Given the description of an element on the screen output the (x, y) to click on. 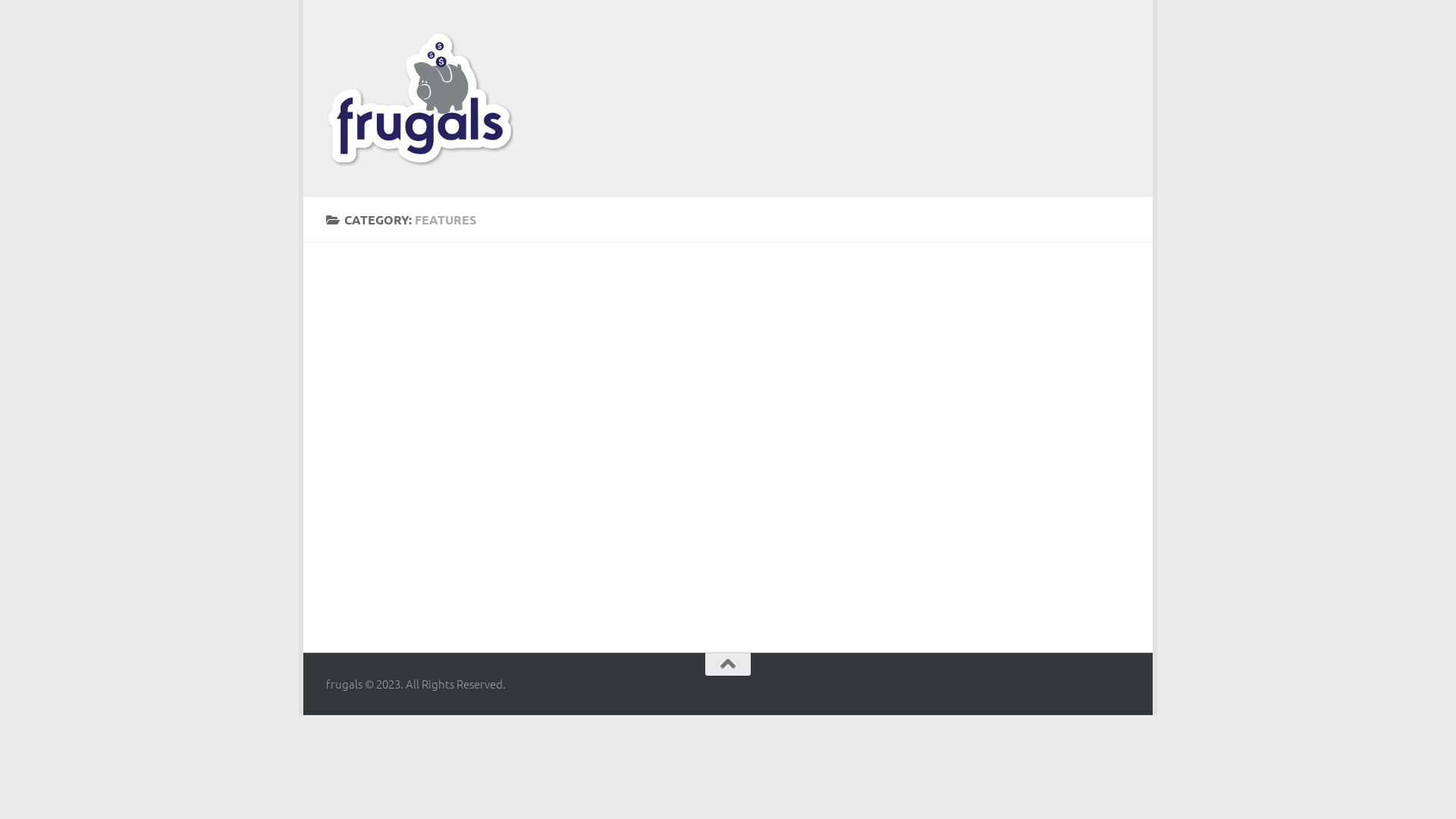
Skip to content Element type: text (367, 21)
frugals | Home page Element type: hover (419, 98)
Advertisement Element type: hover (853, 93)
